Given the description of an element on the screen output the (x, y) to click on. 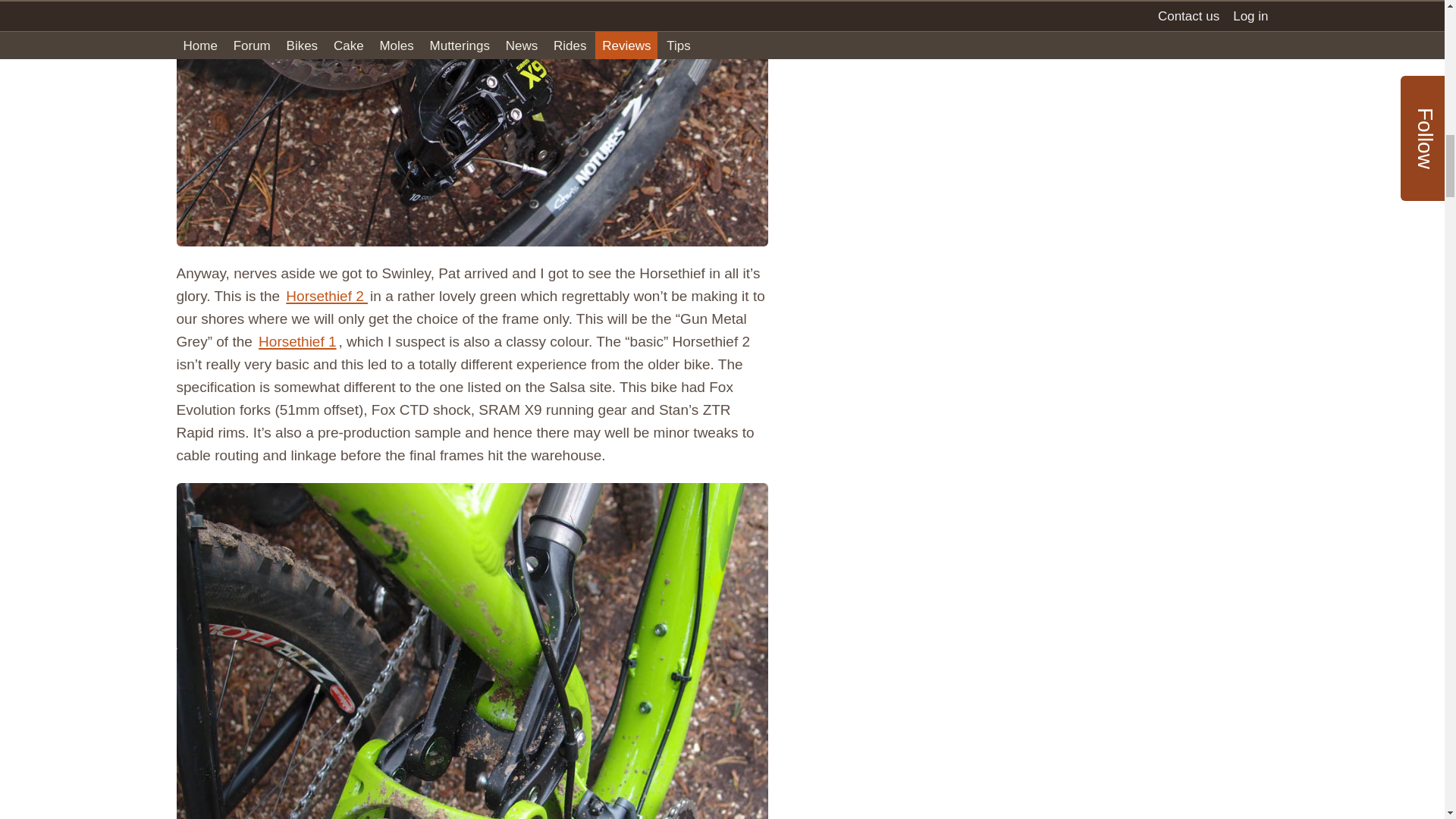
Horsethief 2 page (326, 295)
